Given the description of an element on the screen output the (x, y) to click on. 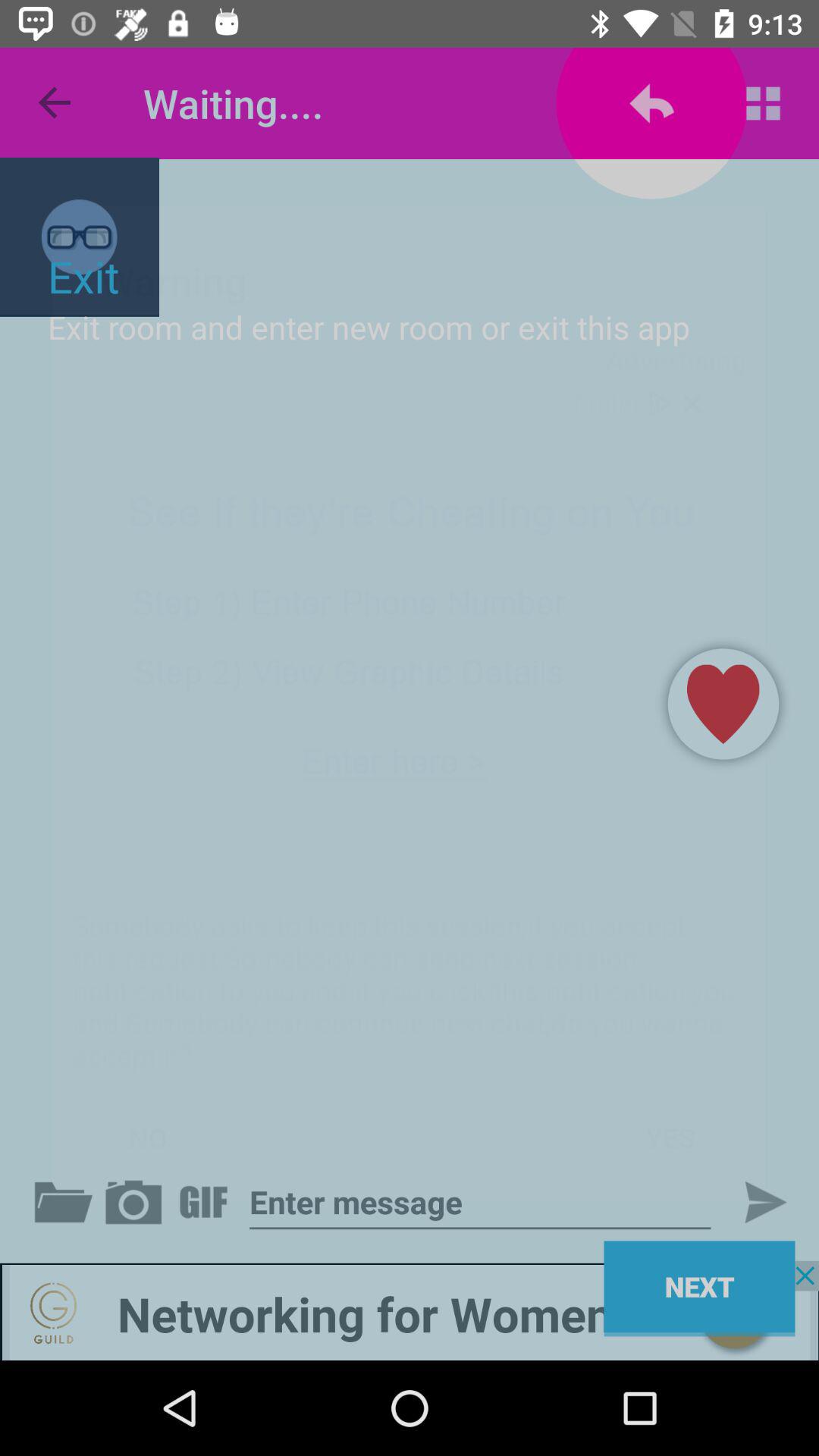
next button (752, 1202)
